Given the description of an element on the screen output the (x, y) to click on. 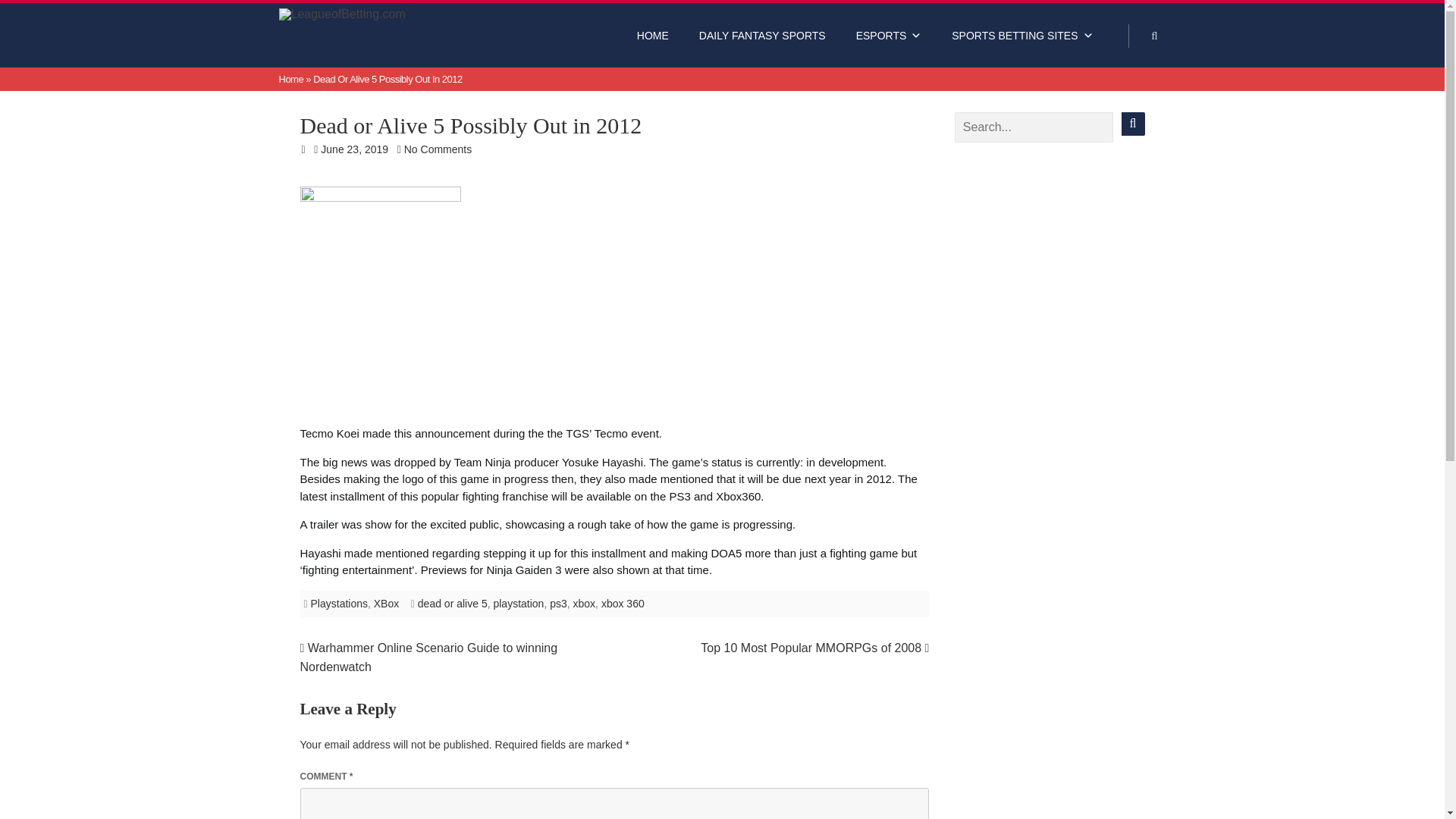
ESPORTS (889, 35)
HOME (652, 35)
Home (291, 79)
ps3 (558, 603)
LeagueofBetting.com (376, 17)
Search for: (1034, 127)
Warhammer Online Scenario Guide to winning Nordenwatch (428, 657)
LeagueofBetting.com (376, 17)
DAILY FANTASY SPORTS (762, 35)
